Given the description of an element on the screen output the (x, y) to click on. 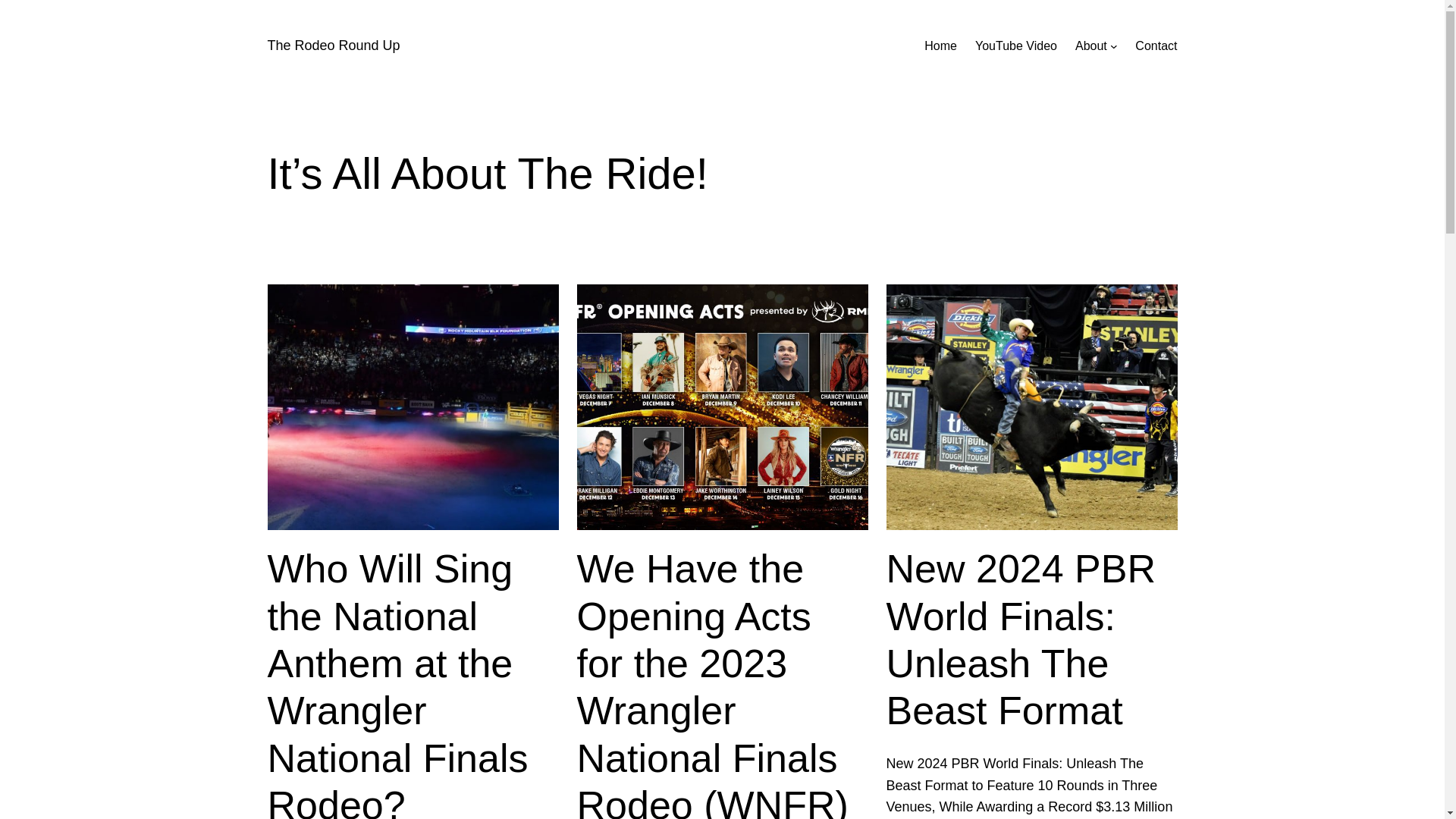
Contact (1155, 46)
The Rodeo Round Up (332, 45)
About (1090, 46)
YouTube Video (1016, 46)
New 2024 PBR World Finals: Unleash The Beast Format (1030, 639)
Home (940, 46)
